Given the description of an element on the screen output the (x, y) to click on. 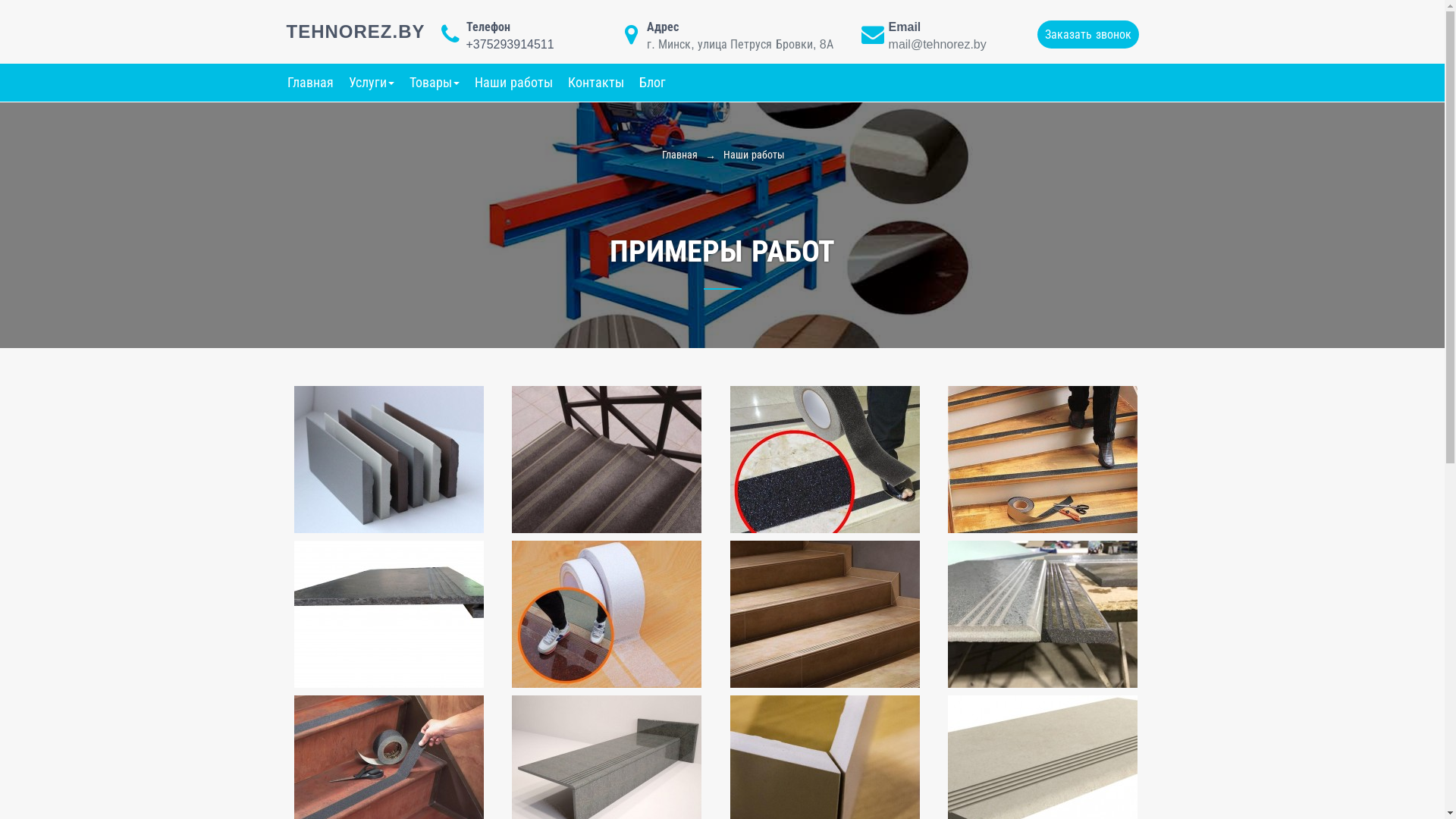
mail@tehnorez.by Element type: text (937, 43)
TEHNOREZ.BY Element type: text (355, 31)
